Given the description of an element on the screen output the (x, y) to click on. 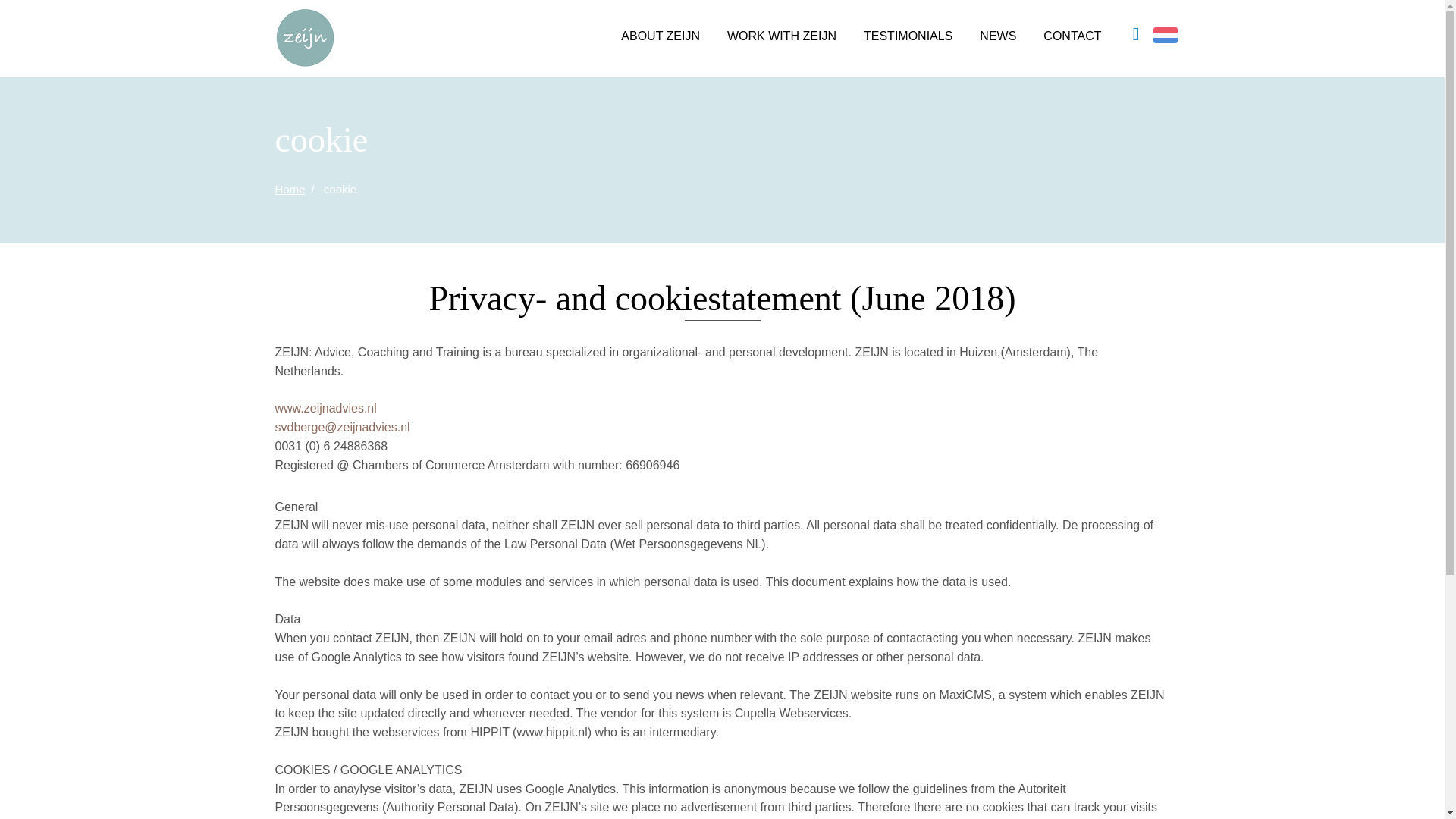
About Zeijn (660, 38)
CONTACT (1064, 38)
TESTIMONIALS (908, 38)
WORK WITH ZEIJN (781, 38)
Home (289, 189)
ABOUT ZEIJN (660, 38)
Contact (1064, 38)
Testimonials (908, 38)
www.zeijnadvies.nl (325, 408)
work with ZEIJN (781, 38)
